Given the description of an element on the screen output the (x, y) to click on. 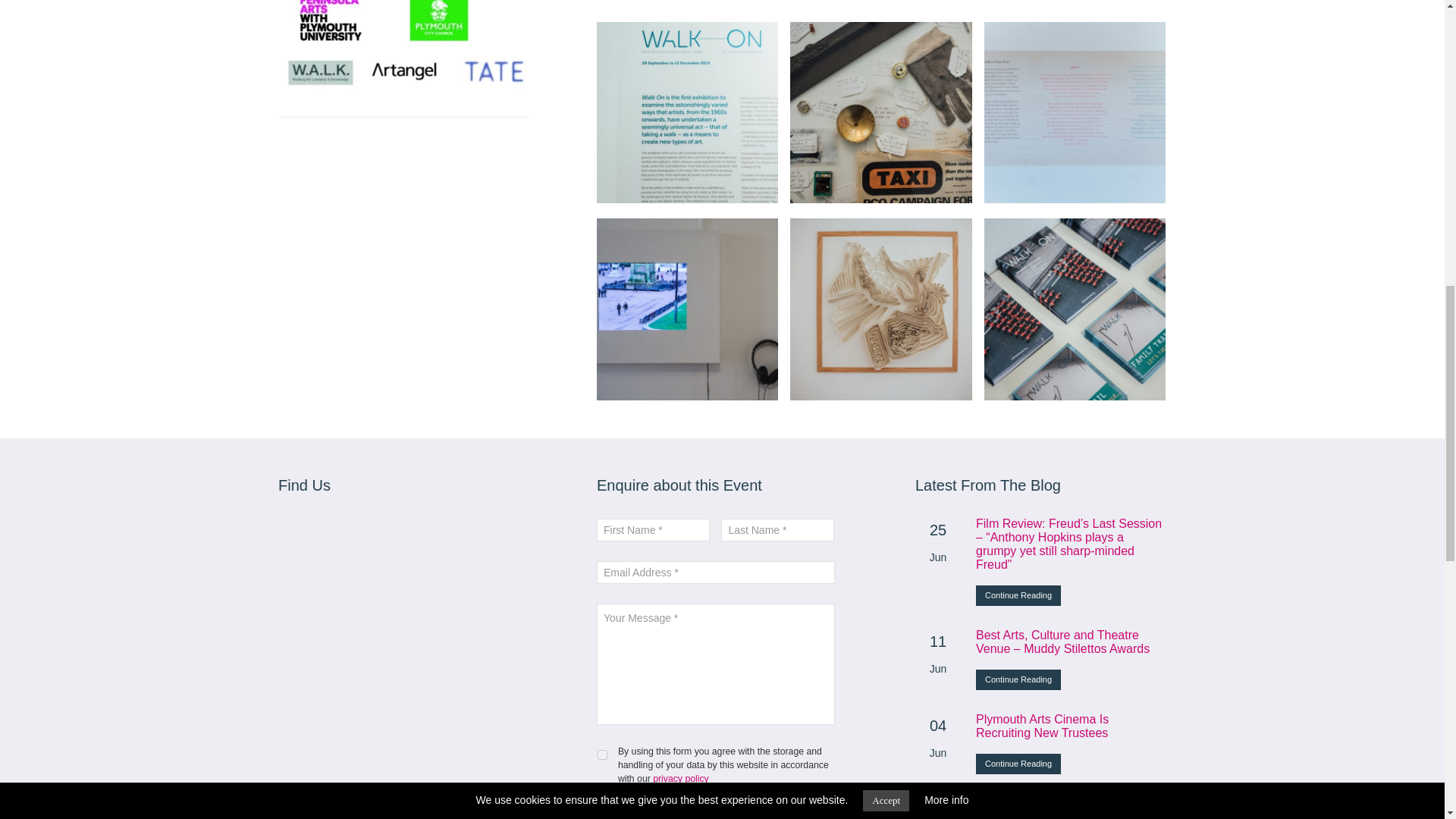
Submit (623, 808)
